Given the description of an element on the screen output the (x, y) to click on. 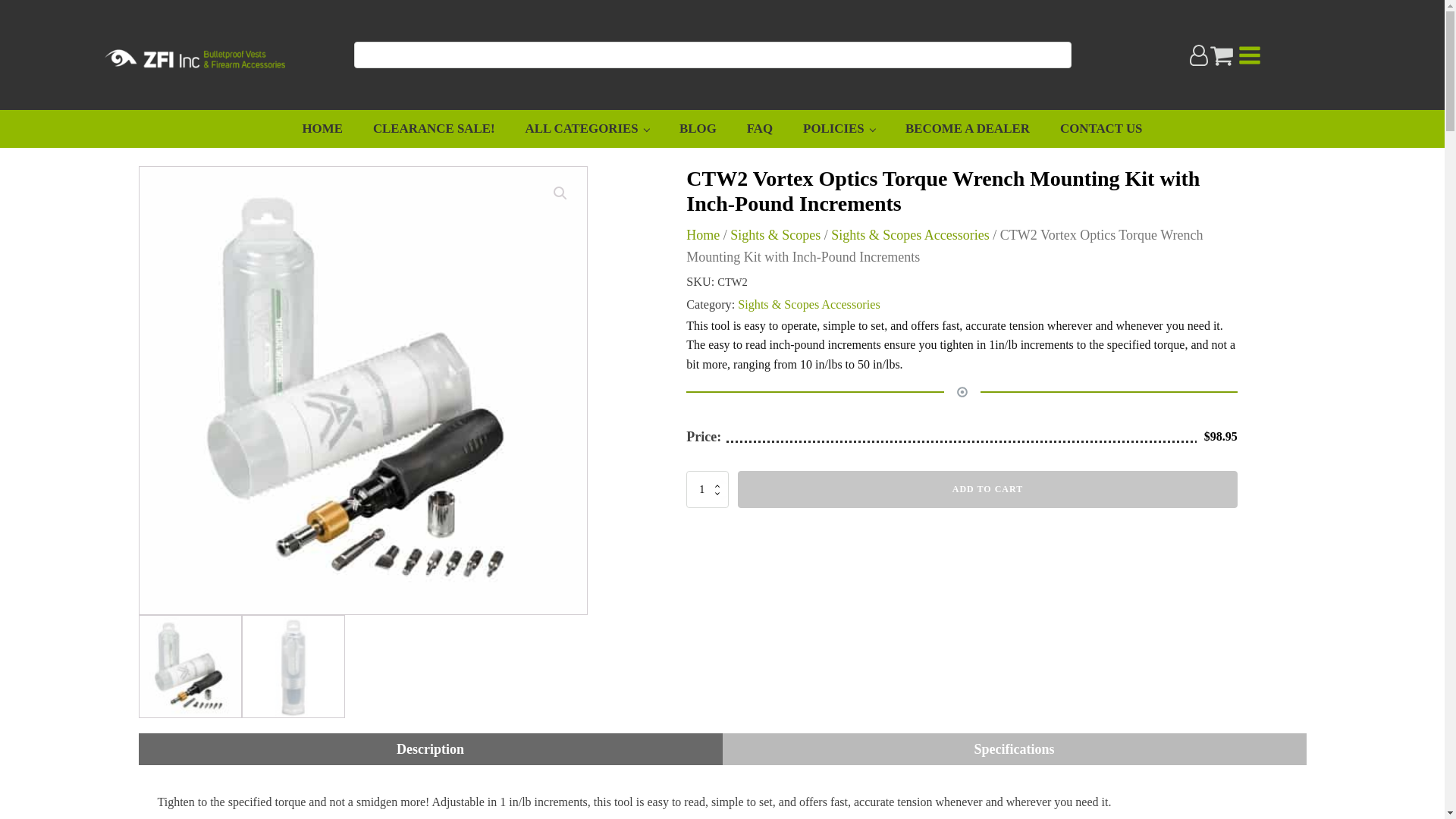
Qty (707, 488)
ALL CATEGORIES (587, 128)
CLEARANCE SALE! (434, 128)
1 (707, 488)
HOME (321, 128)
